Given the description of an element on the screen output the (x, y) to click on. 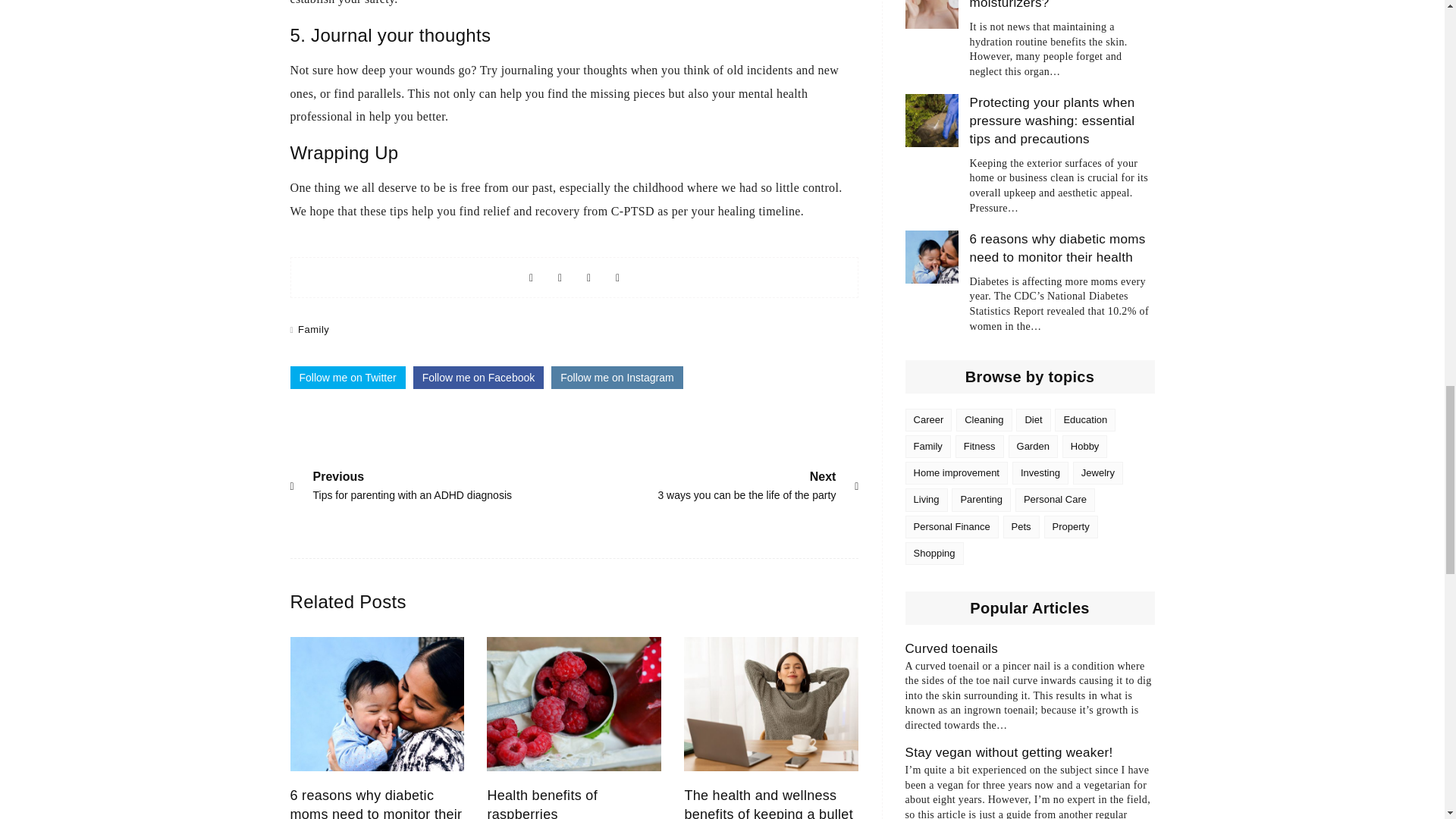
Family (313, 328)
Follow me on Facebook (478, 377)
Share on Facebook (530, 276)
Follow me on Instagram (616, 377)
Share on Reddit (616, 276)
Share on Pinterest (746, 483)
Health benefits of raspberries (587, 276)
6 reasons why diabetic moms need to monitor their health (541, 803)
Follow me on Twitter (375, 803)
Share on Twitter (346, 377)
